Given the description of an element on the screen output the (x, y) to click on. 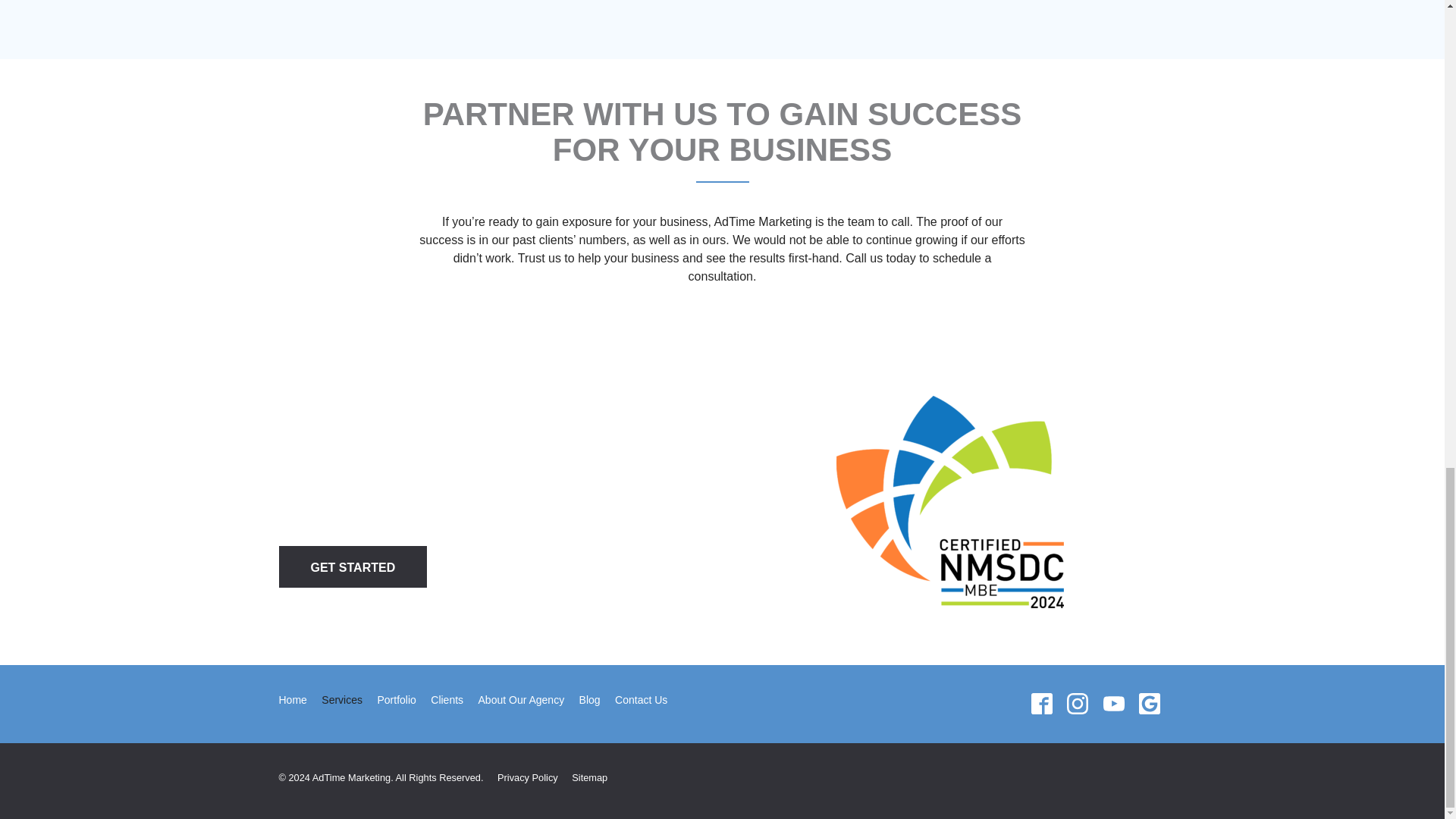
facebook (1041, 703)
Home (293, 700)
GET STARTED (353, 567)
Portfolio (396, 700)
Services (341, 700)
youtube (1113, 703)
instagram (1077, 703)
google (1149, 703)
